Given the description of an element on the screen output the (x, y) to click on. 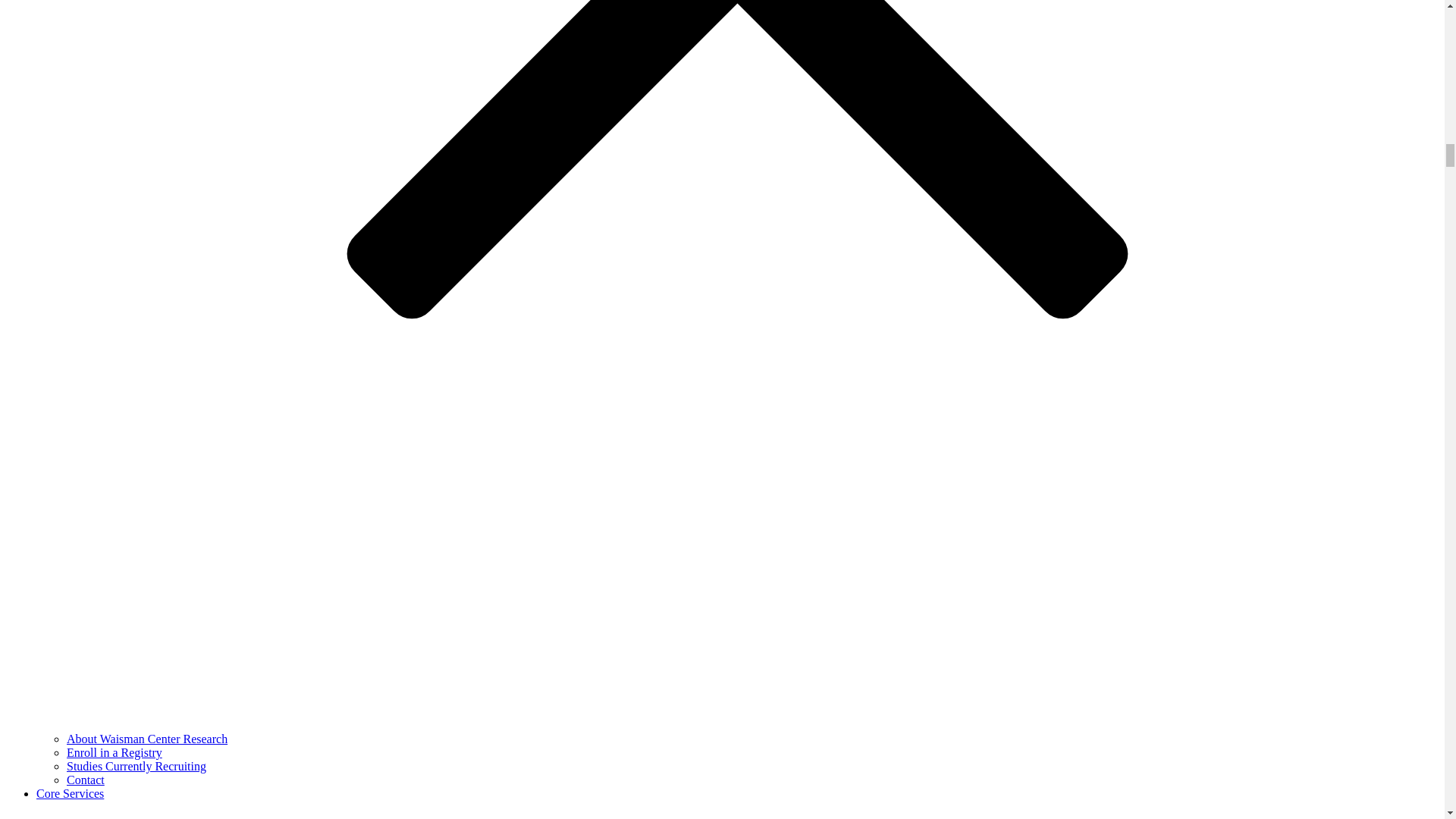
Enroll in a Registry (113, 752)
Studies Currently Recruiting (136, 766)
About Waisman Center Research (146, 738)
